Given the description of an element on the screen output the (x, y) to click on. 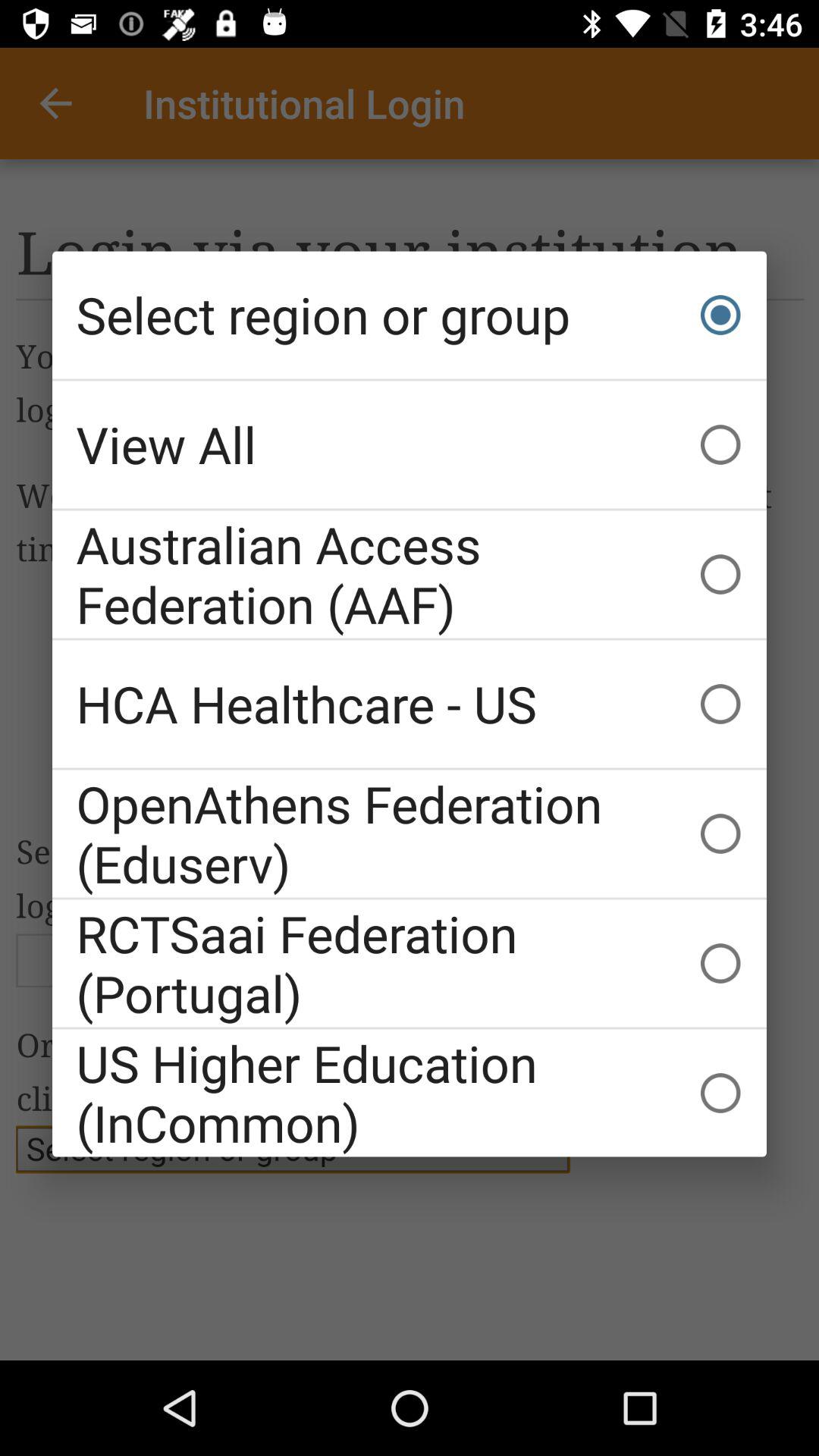
select item above openathens federation (eduserv) (409, 703)
